Given the description of an element on the screen output the (x, y) to click on. 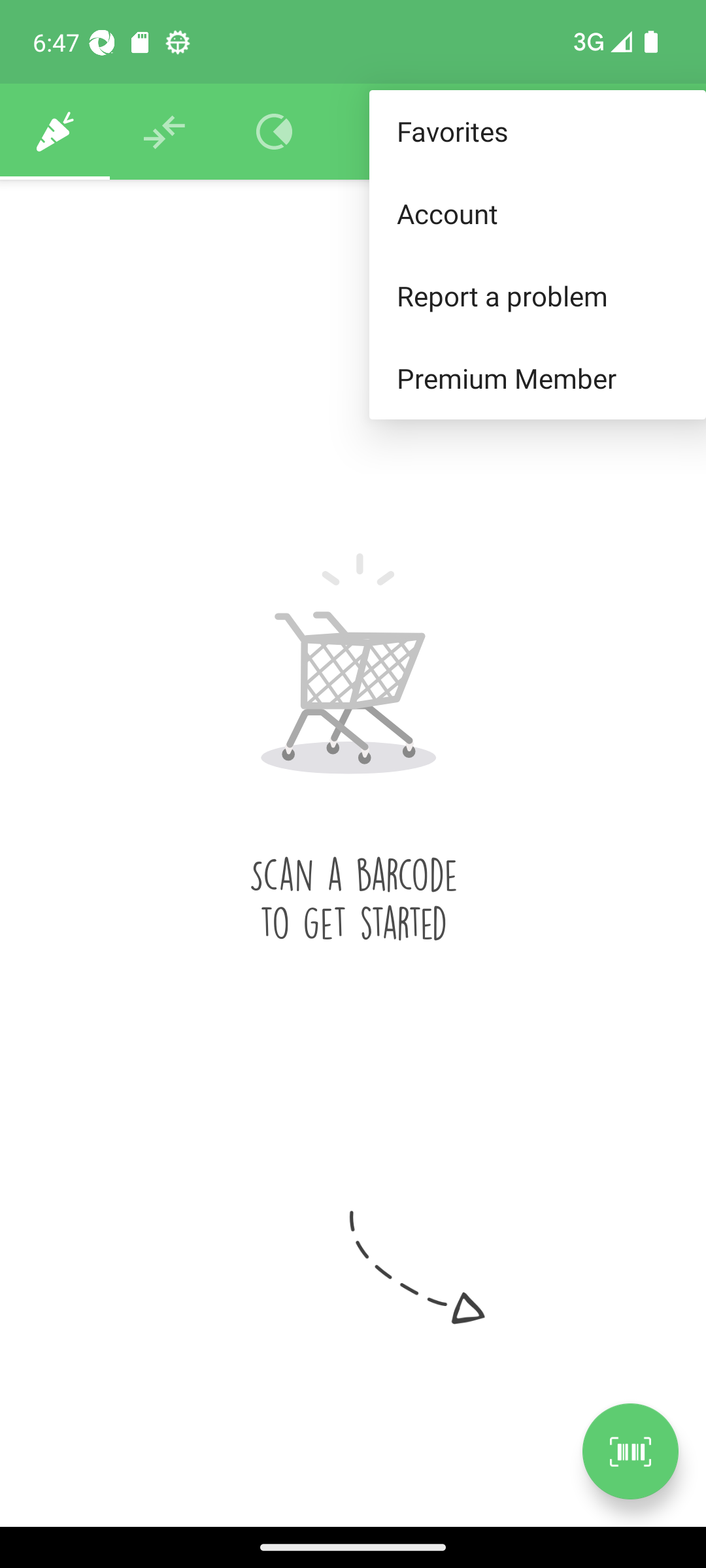
Favorites (537, 131)
Account (537, 213)
Report a problem (537, 295)
Premium Member (537, 378)
